Given the description of an element on the screen output the (x, y) to click on. 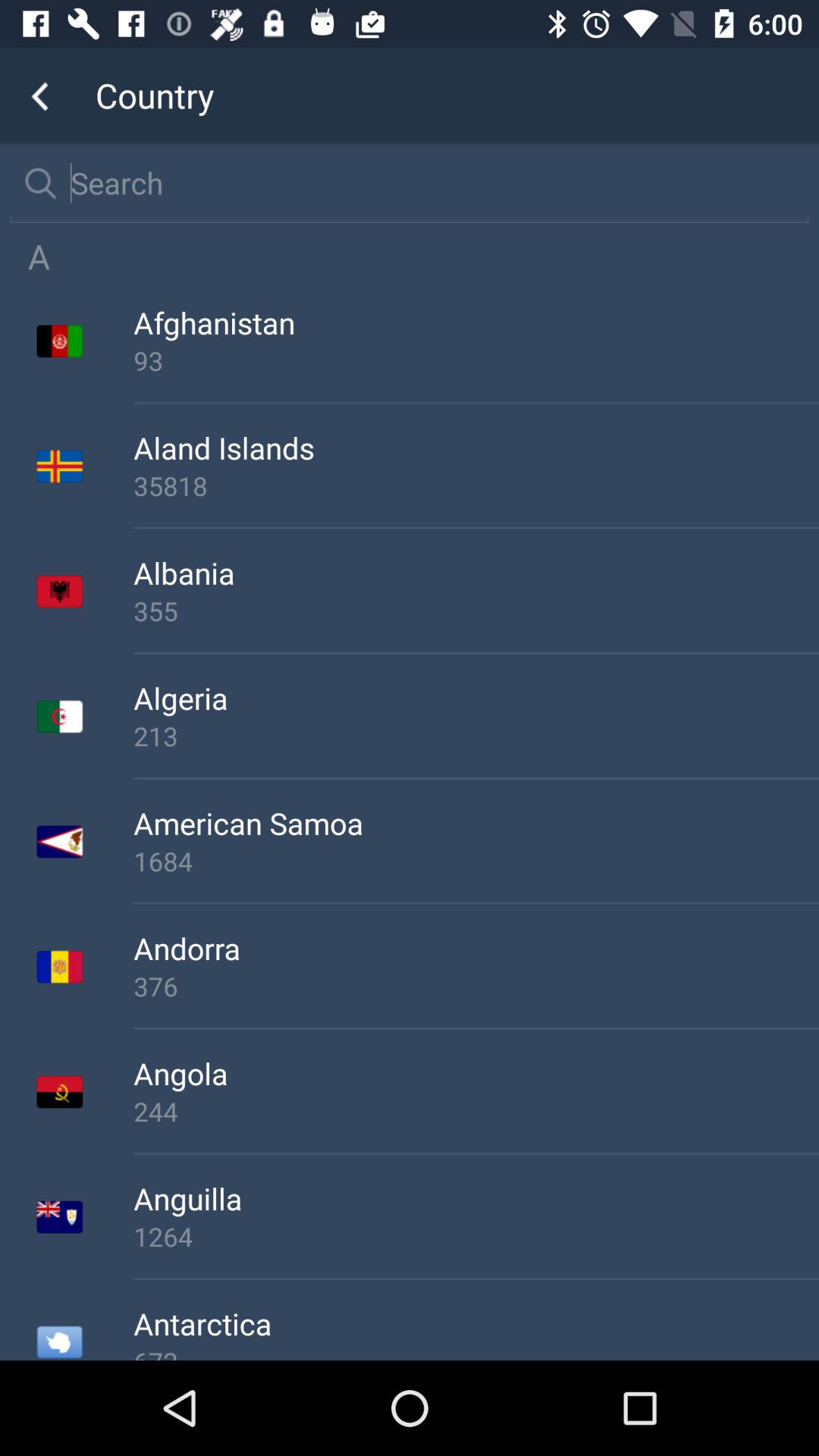
swipe until the aland islands icon (476, 447)
